Given the description of an element on the screen output the (x, y) to click on. 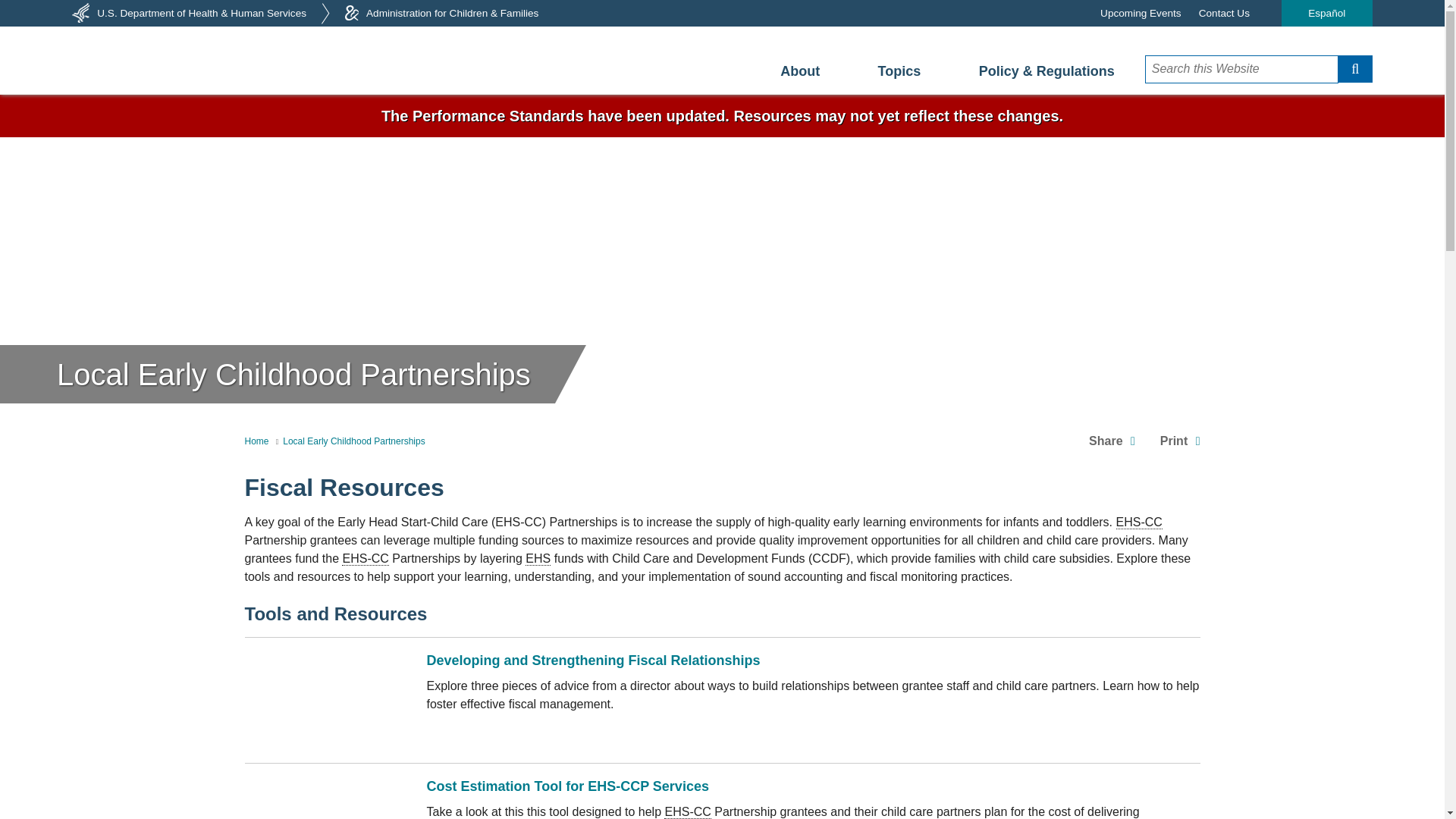
Skip to main content (721, 98)
Upcoming Events (1140, 13)
ECLKC homepage (245, 61)
Contact Us (1223, 13)
About (799, 71)
Printer Friendly and PDF (1179, 440)
Performance Standards (721, 116)
Topics (899, 71)
Early Head Start-Child Care (365, 558)
Early Head Start-Child Care (1138, 522)
